Given the description of an element on the screen output the (x, y) to click on. 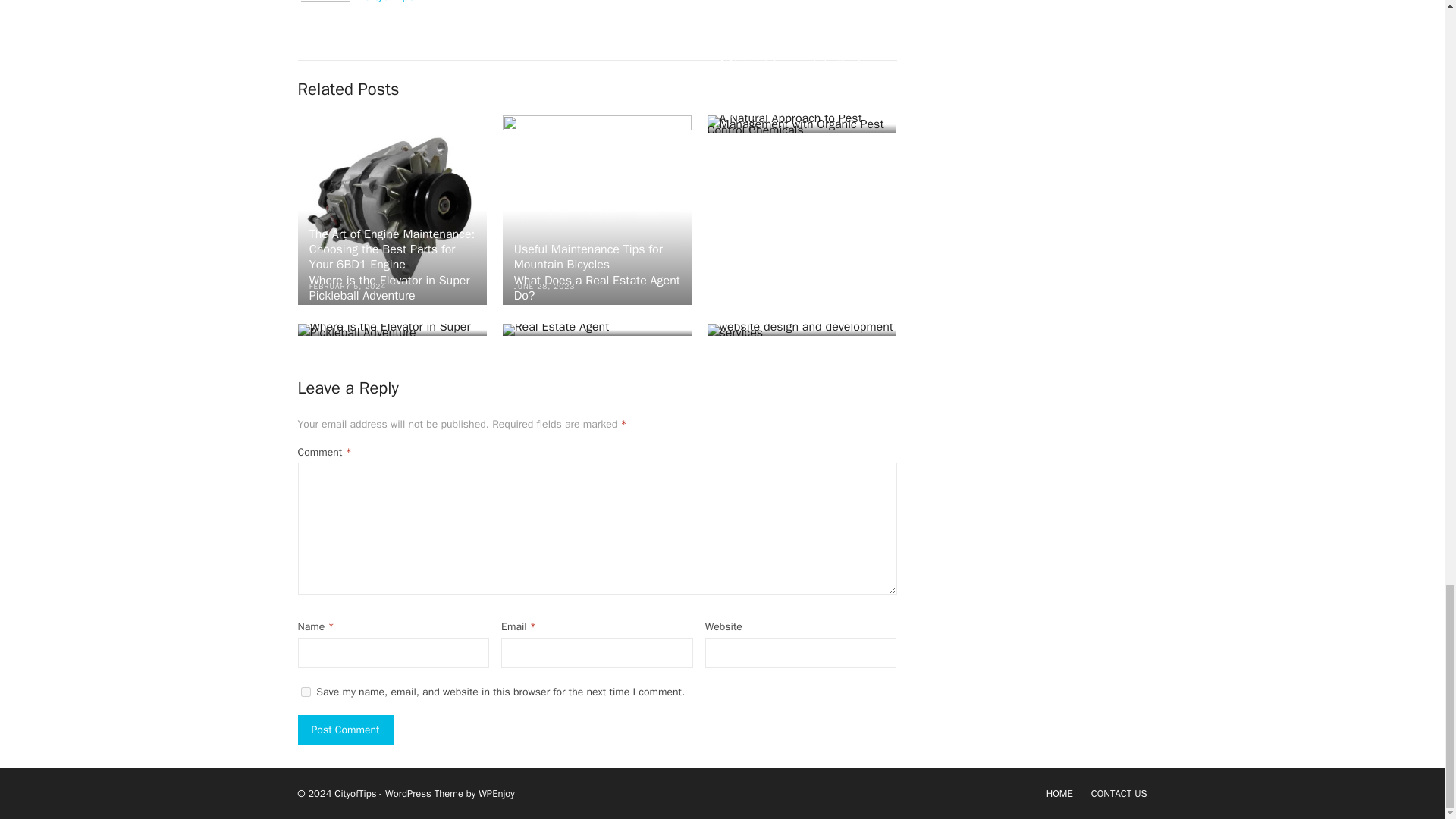
Post Comment (345, 729)
yes (597, 209)
CityofTips (304, 691)
